Given the description of an element on the screen output the (x, y) to click on. 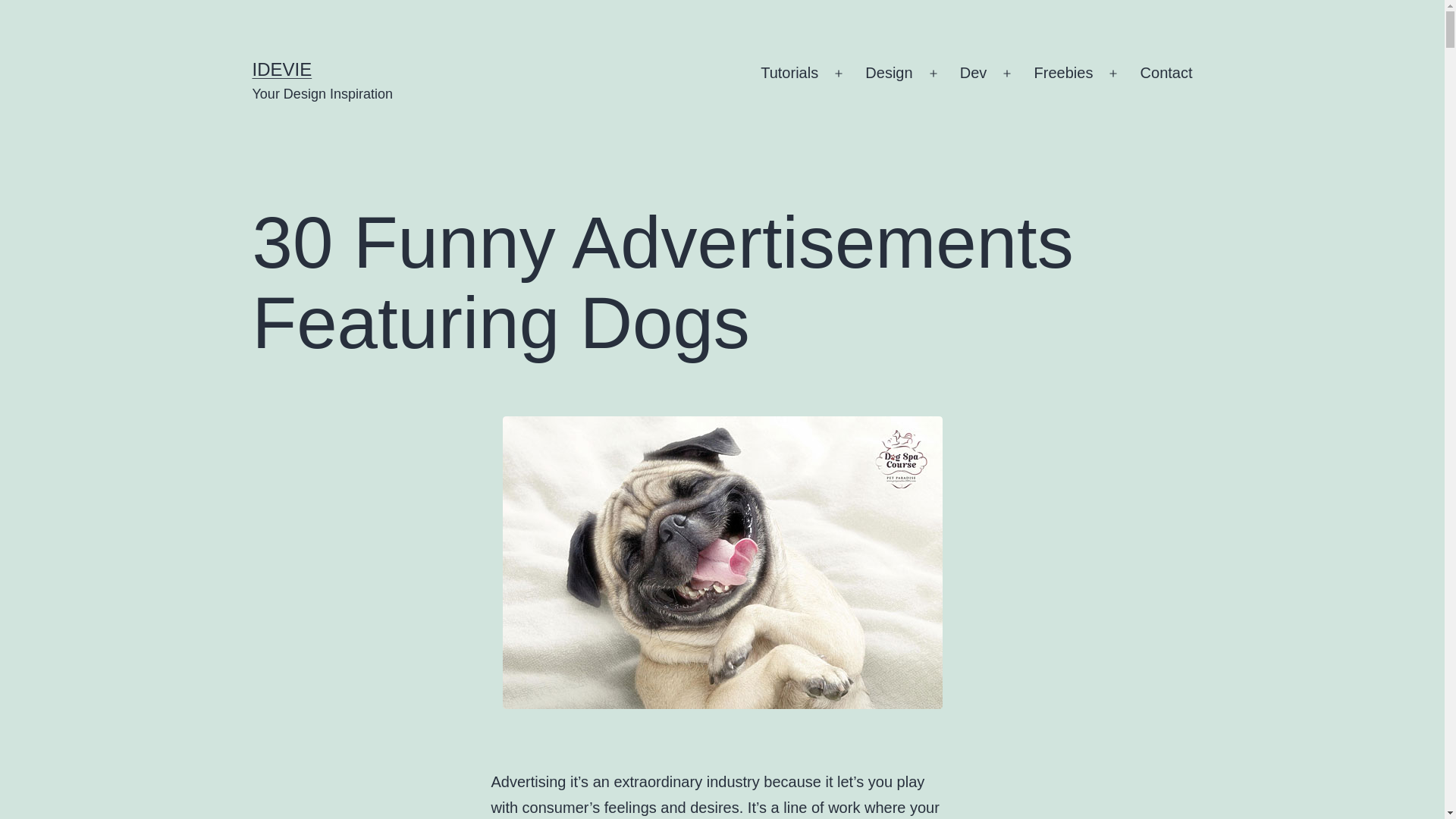
IDEVIE (281, 68)
Open menu (839, 73)
Contact (1165, 73)
Dev (973, 73)
Open menu (933, 73)
Tutorials (789, 73)
Design (889, 73)
Open menu (1112, 73)
Open menu (1006, 73)
Freebies (1062, 73)
